Given the description of an element on the screen output the (x, y) to click on. 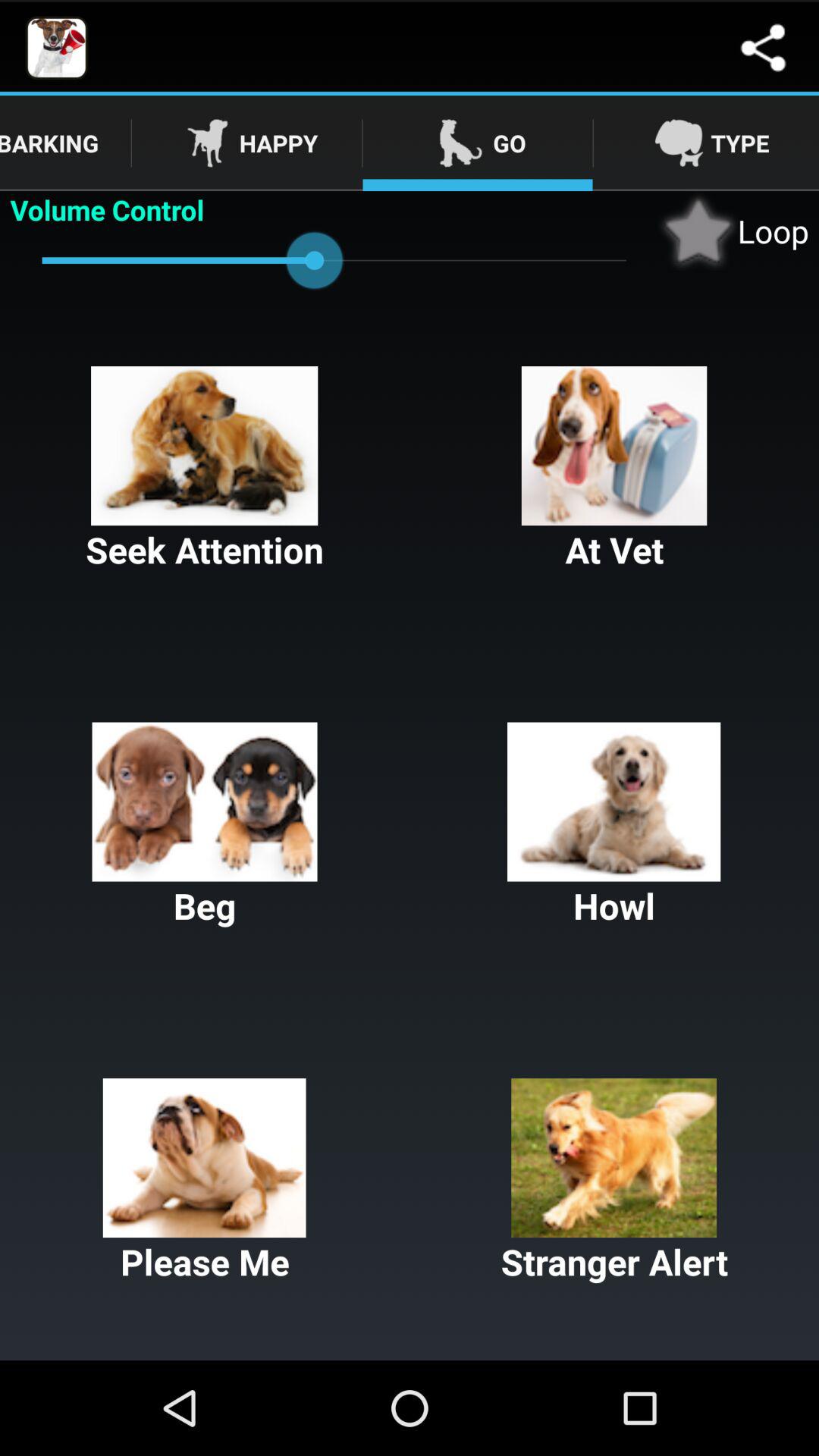
choose at vet (614, 469)
